Given the description of an element on the screen output the (x, y) to click on. 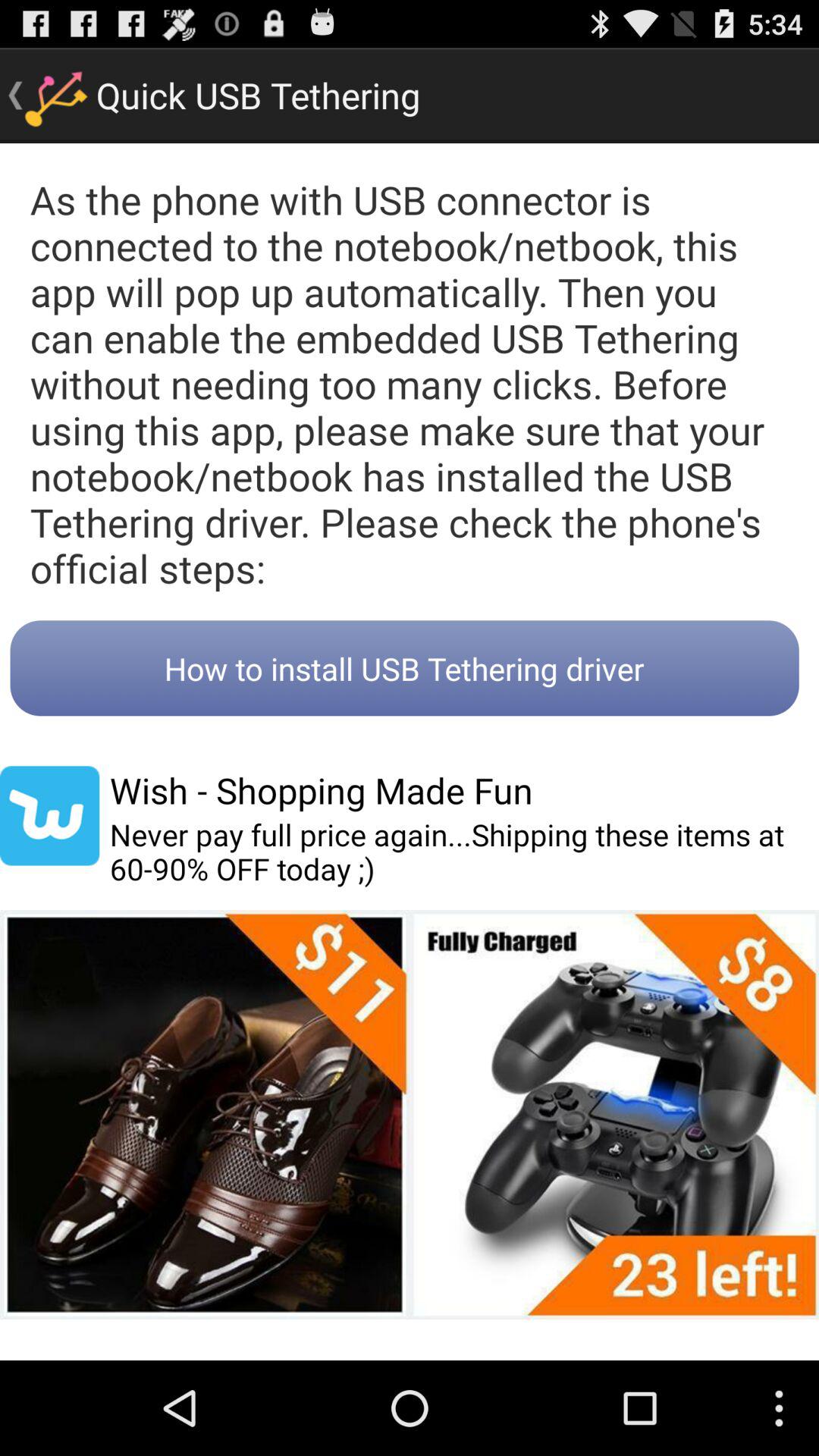
scroll to the wish shopping made icon (320, 790)
